Given the description of an element on the screen output the (x, y) to click on. 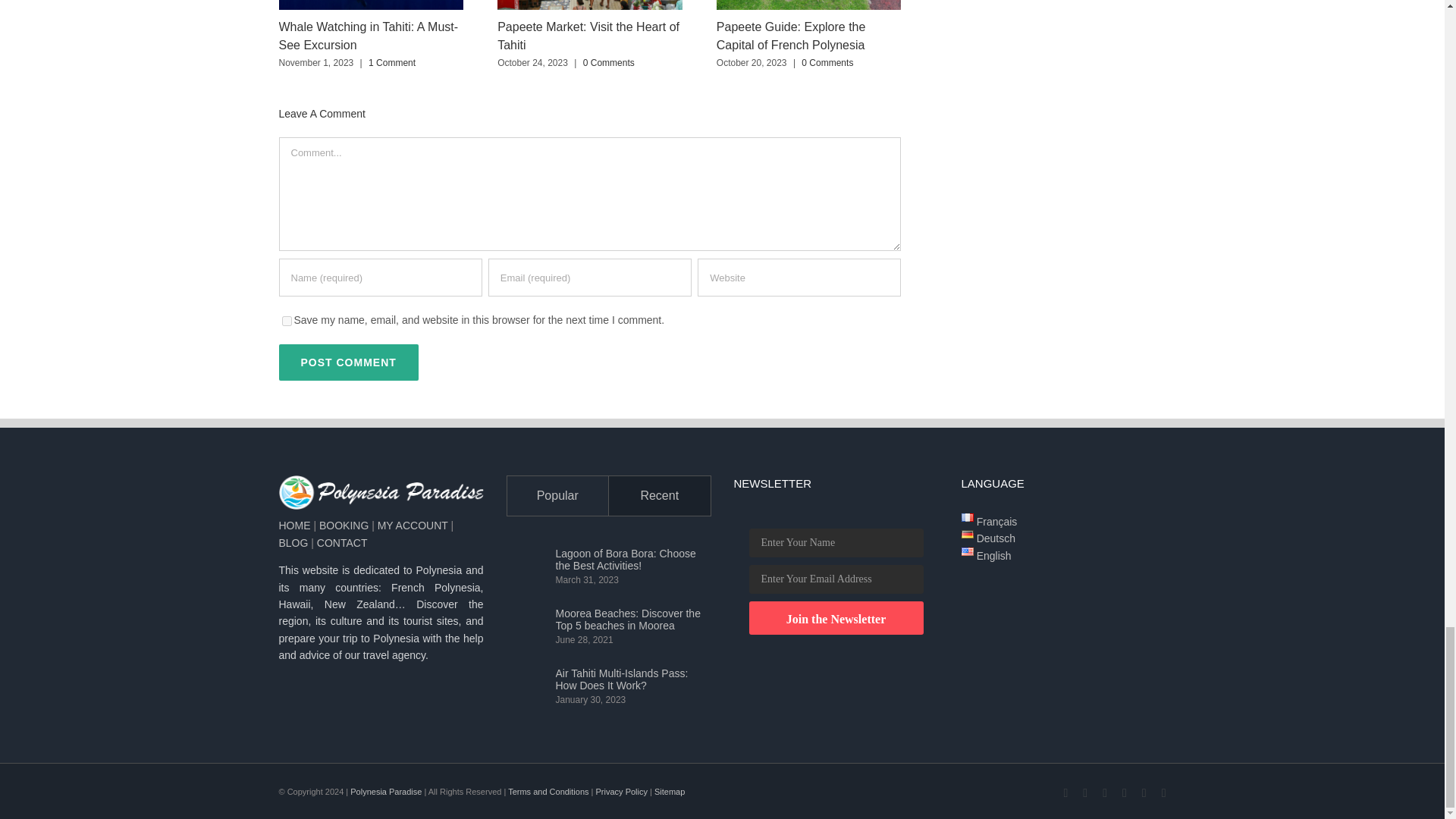
Papeete Market: Visit the Heart of Tahiti (588, 35)
Post Comment (349, 361)
yes (287, 320)
Whale Watching in Tahiti: A Must-See Excursion (368, 35)
